Given the description of an element on the screen output the (x, y) to click on. 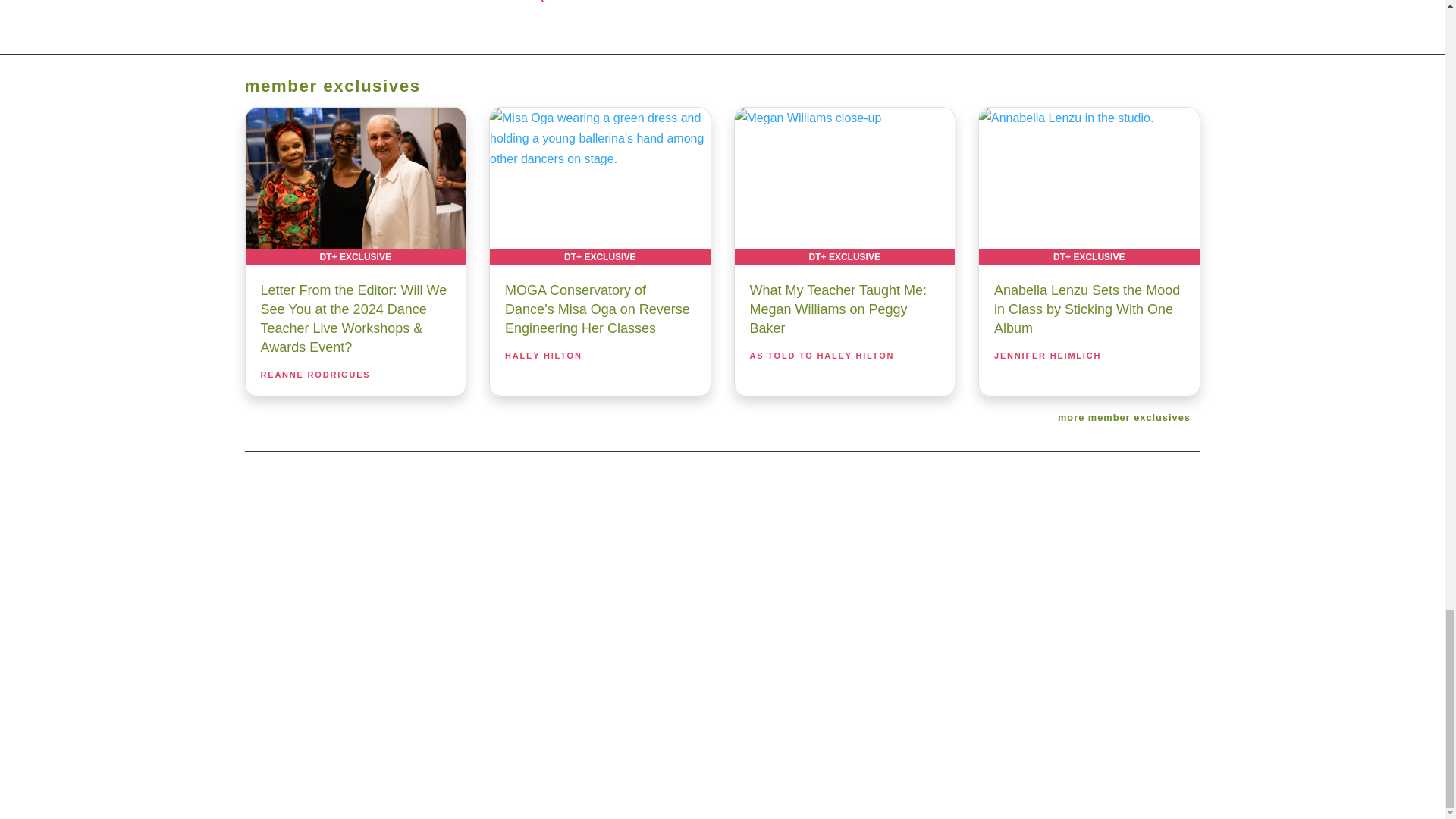
Follow on Facebook (645, 619)
What My Teacher Taught Me: Megan Williams on Peggy Baker (844, 186)
